Given the description of an element on the screen output the (x, y) to click on. 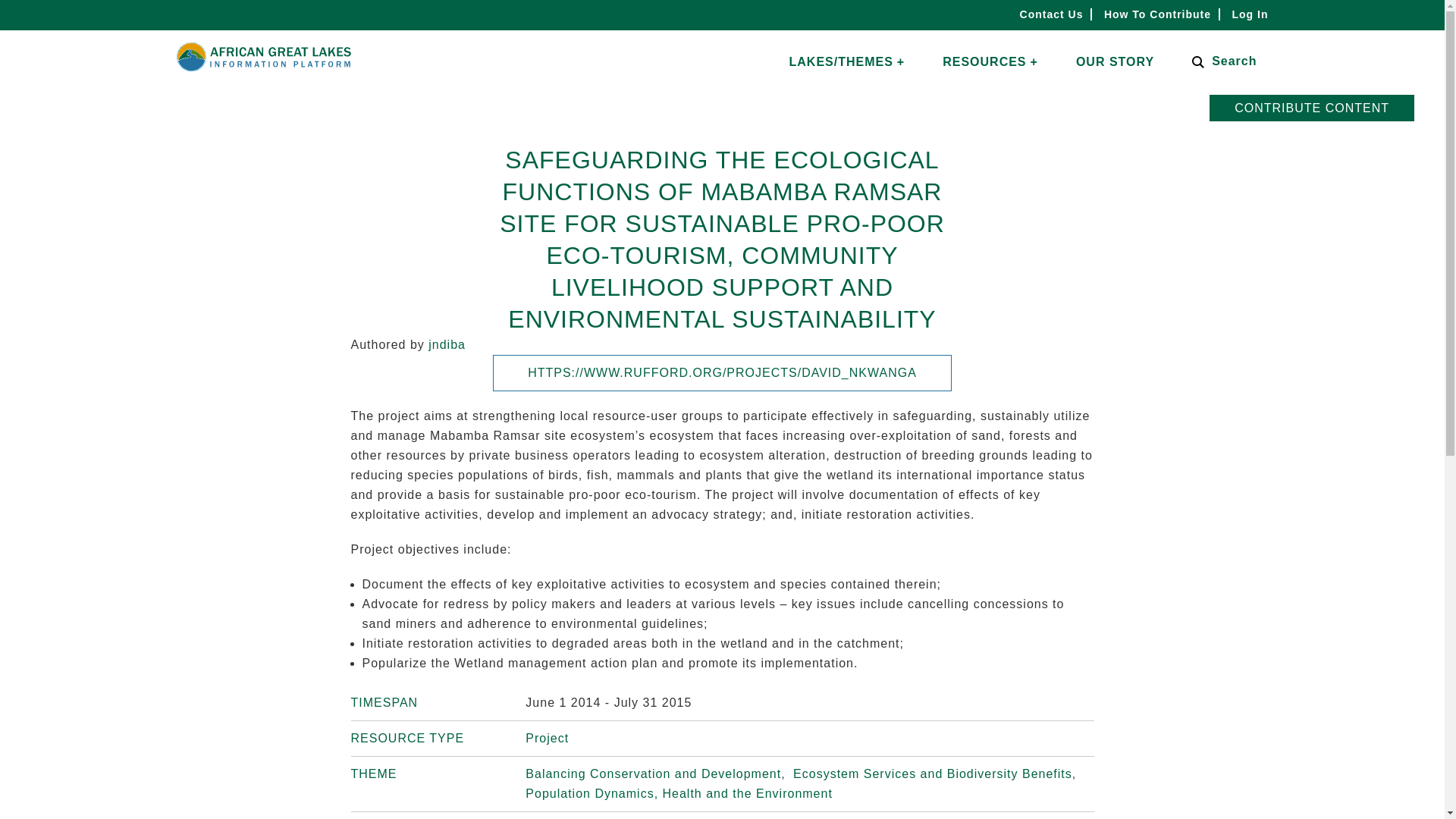
Ecosystem Services and Biodiversity Benefits (936, 773)
OUR STORY (1114, 61)
AGLI home (263, 71)
Contact Us (1051, 14)
Log In (1249, 14)
Project (547, 738)
CONTRIBUTE CONTENT (1311, 108)
RESOURCES (990, 62)
jndiba (446, 344)
How To Contribute (1157, 14)
Population Dynamics, Health and the Environment (678, 793)
Balancing Conservation and Development (657, 773)
Search (50, 13)
